Given the description of an element on the screen output the (x, y) to click on. 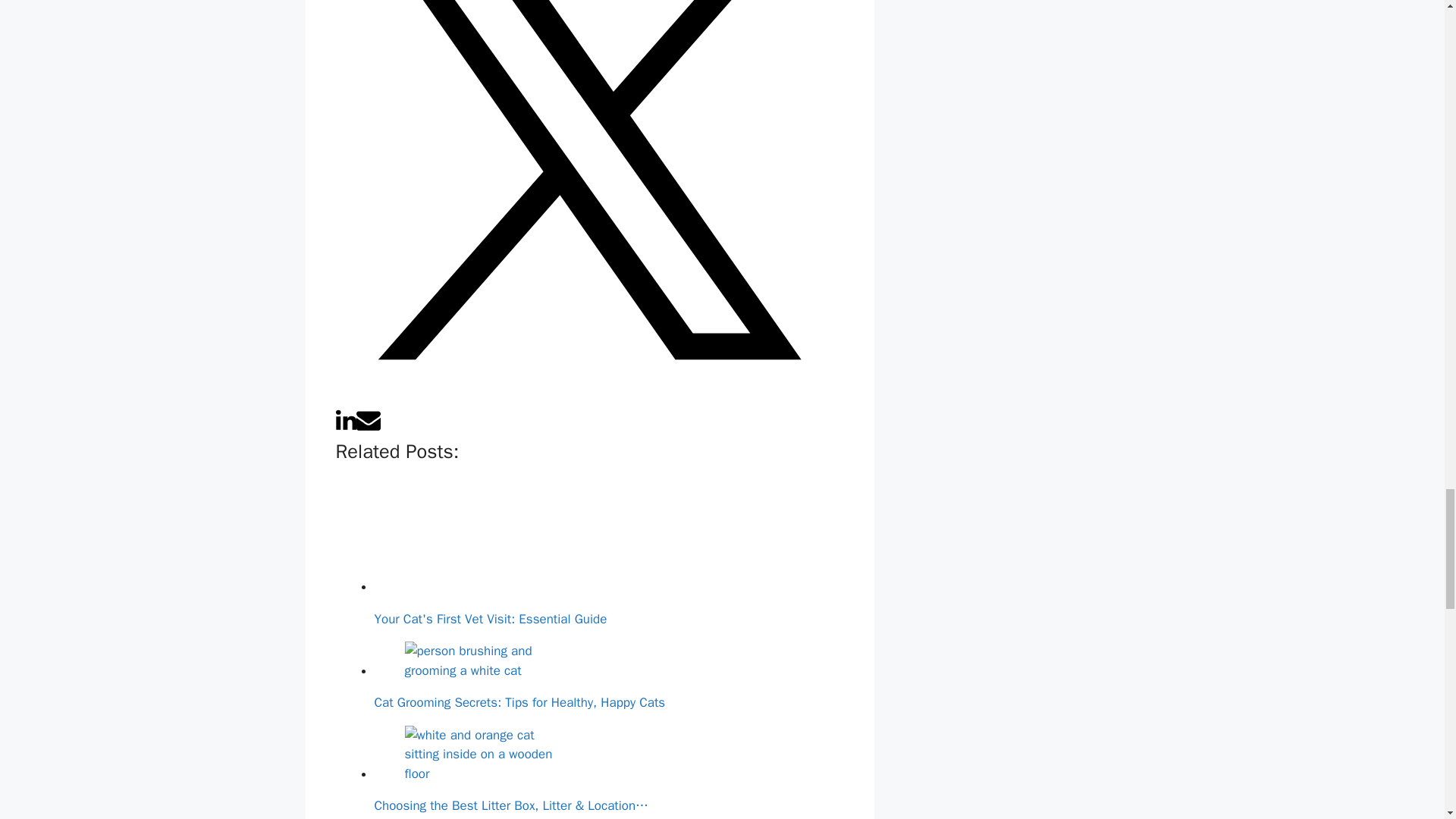
Share via Email (368, 427)
Cat Grooming Secrets: Tips for Healthy, Happy Cats (488, 660)
Share on Twitter (588, 397)
Your Cat's First Vet Visit: Essential Guide (488, 534)
Share on LinkedIn (344, 427)
